Given the description of an element on the screen output the (x, y) to click on. 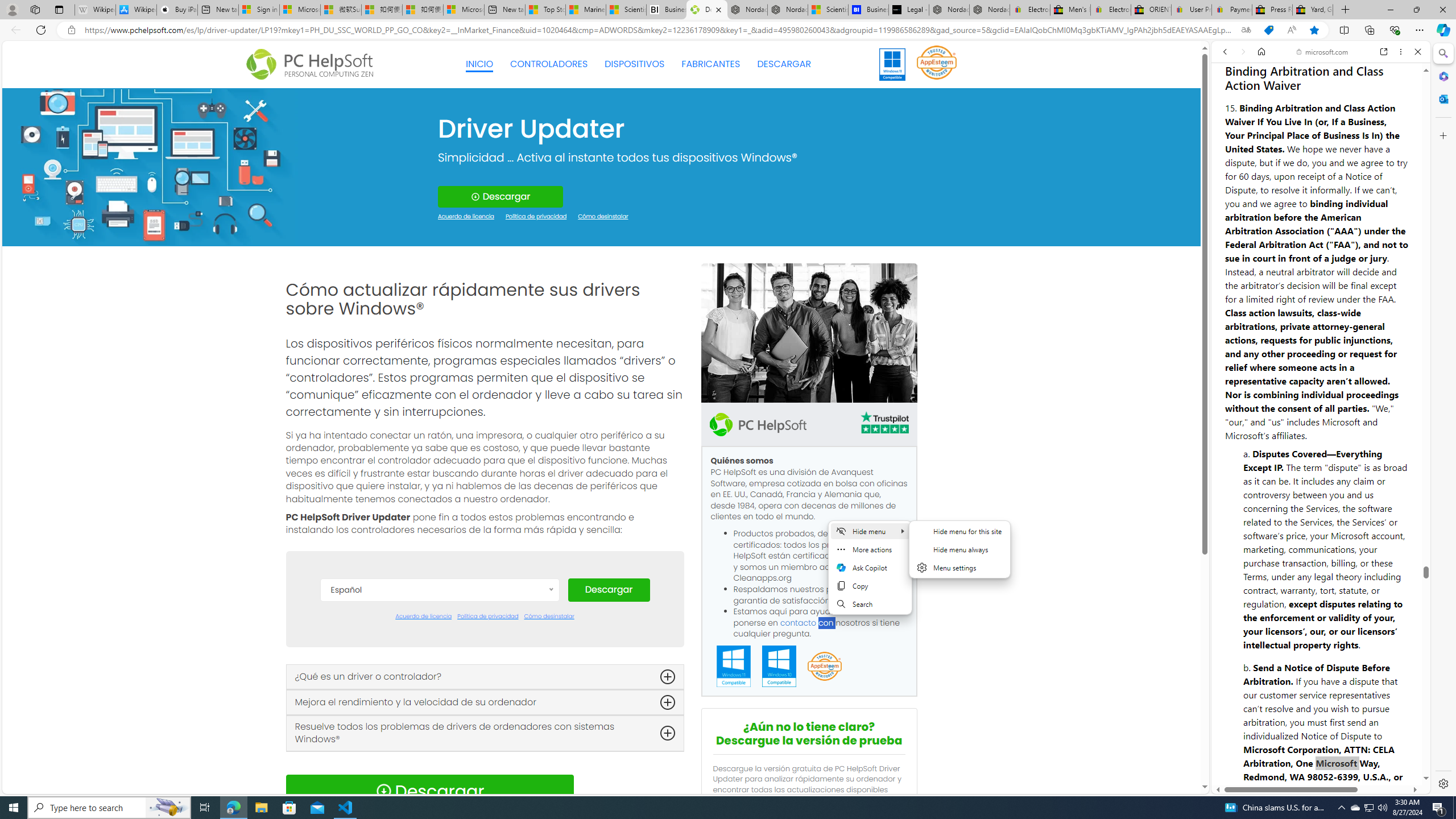
Windows 10 Compatible (778, 666)
Download Icon Descargar (429, 790)
Microsoft account | Account Checkup (463, 9)
Shopping in Microsoft Edge (1268, 29)
Ask Copilot (869, 567)
DESCARGAR (783, 64)
Dansk (439, 643)
More actions (869, 549)
Descargar (608, 589)
Hide menu (960, 549)
App bar (728, 29)
Acuerdo de licencia (423, 615)
